Given the description of an element on the screen output the (x, y) to click on. 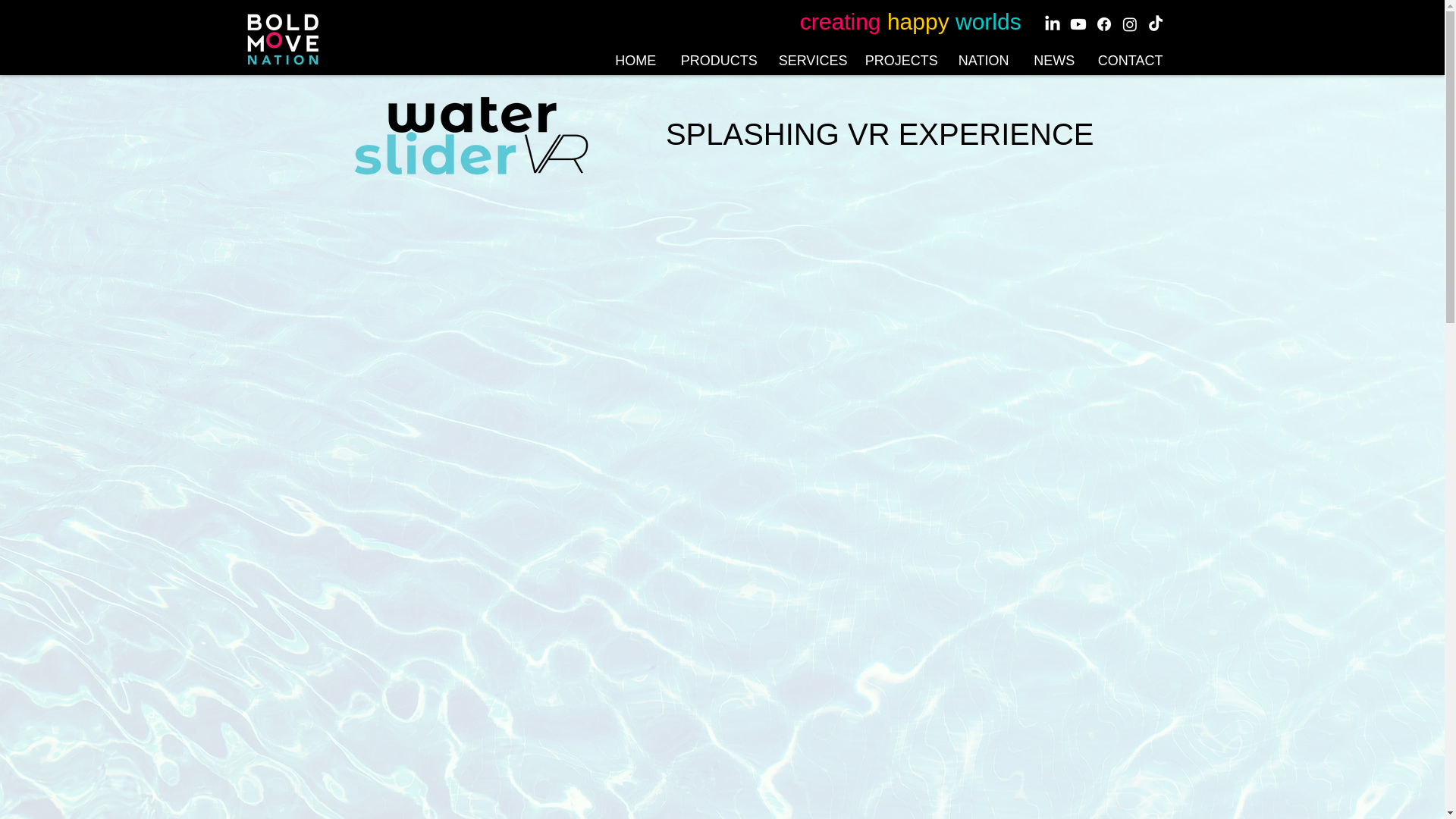
NATION (983, 60)
CONTACT (1130, 60)
PRODUCTS (718, 60)
HOME (635, 60)
NEWS (1054, 60)
